Given the description of an element on the screen output the (x, y) to click on. 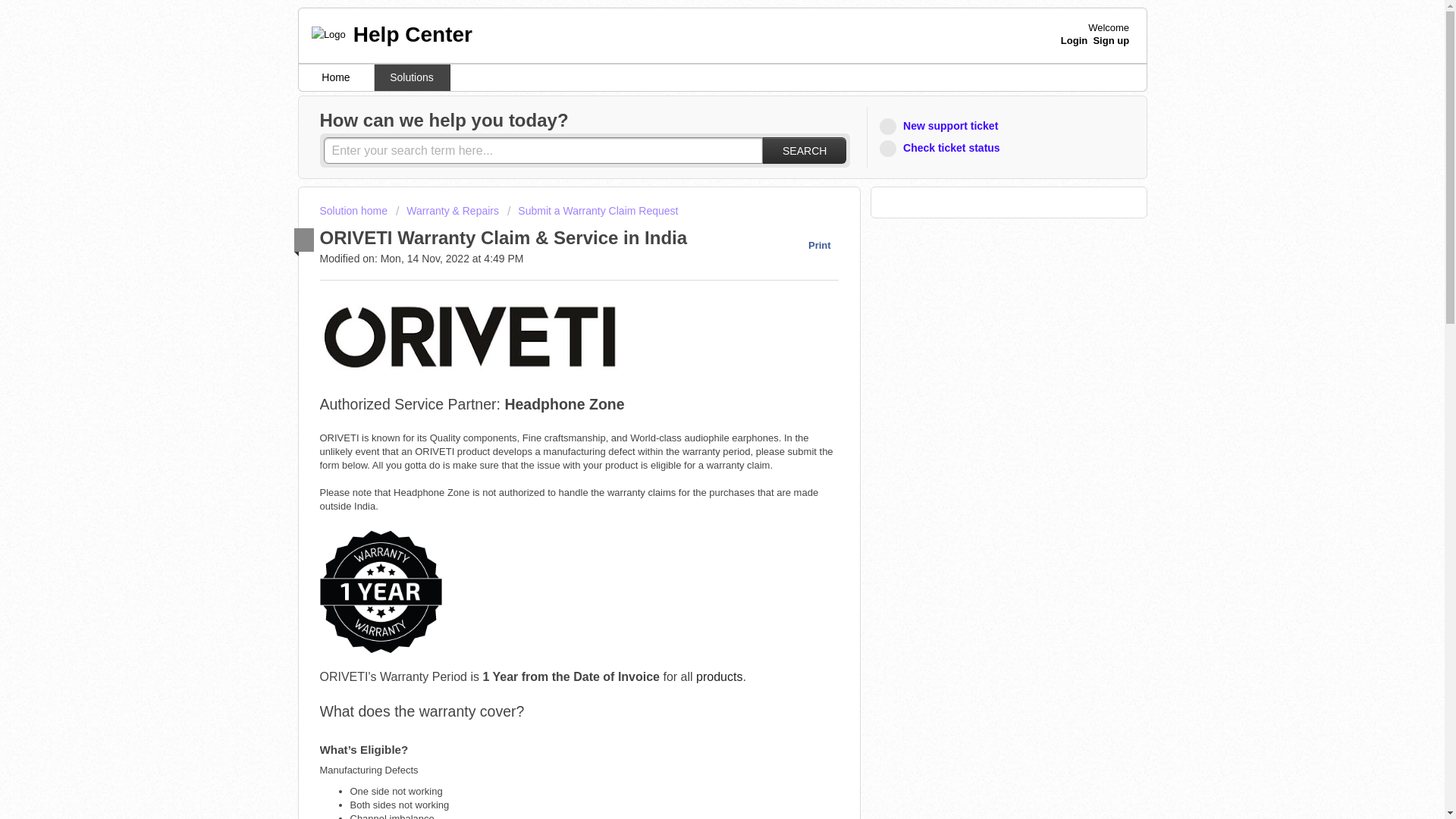
New support ticket (940, 126)
Solutions (411, 77)
New support ticket (940, 126)
Check ticket status (941, 147)
Print (812, 244)
Login (1074, 40)
Solution home (355, 210)
Check ticket status (941, 147)
Submit a Warranty Claim Request (592, 210)
SEARCH (803, 150)
Print this Article (812, 244)
Home (336, 77)
Sign up (1111, 40)
